Given the description of an element on the screen output the (x, y) to click on. 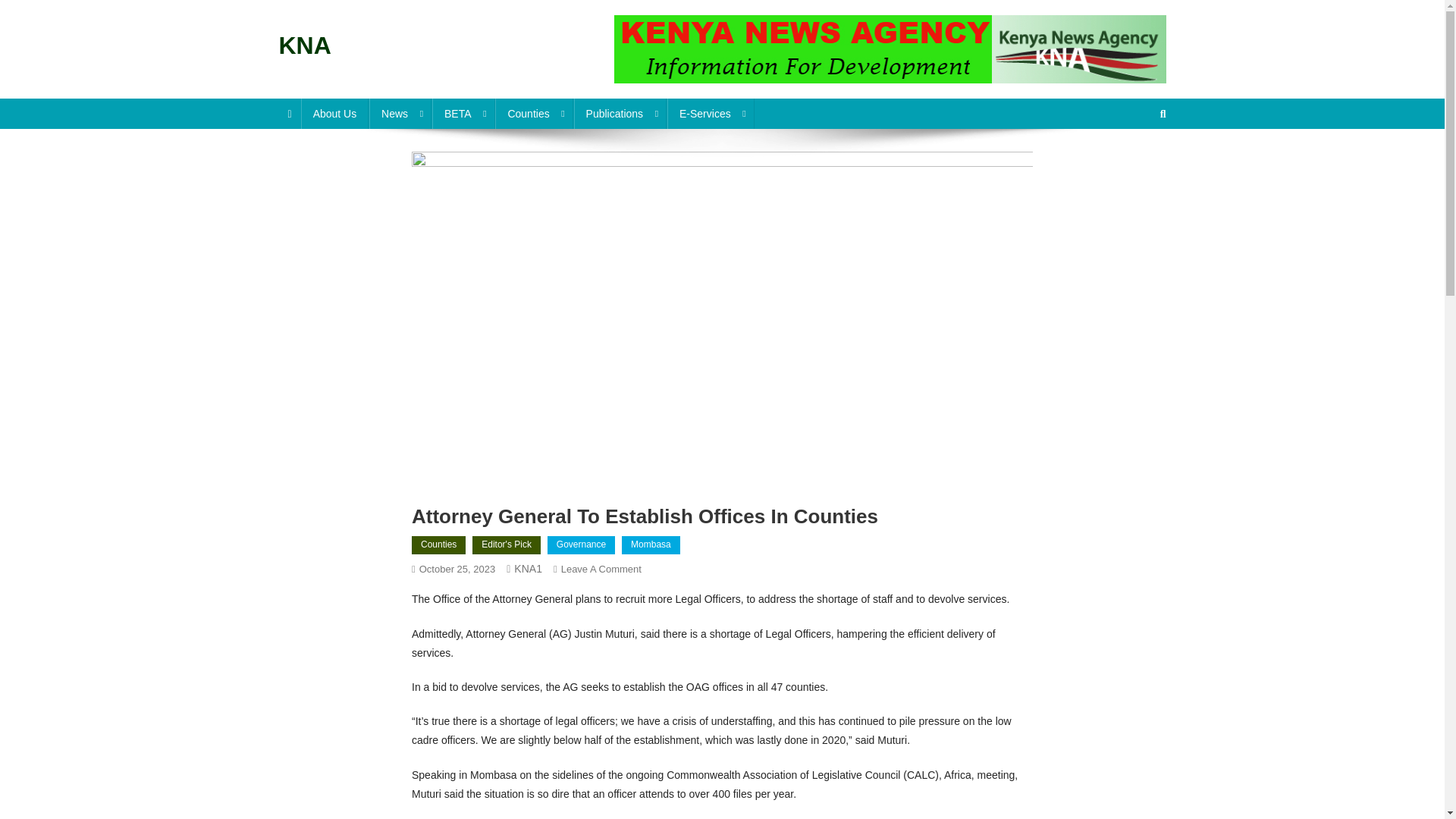
BETA (463, 113)
About Us (335, 113)
News (399, 113)
Counties (533, 113)
KNA (305, 44)
